Given the description of an element on the screen output the (x, y) to click on. 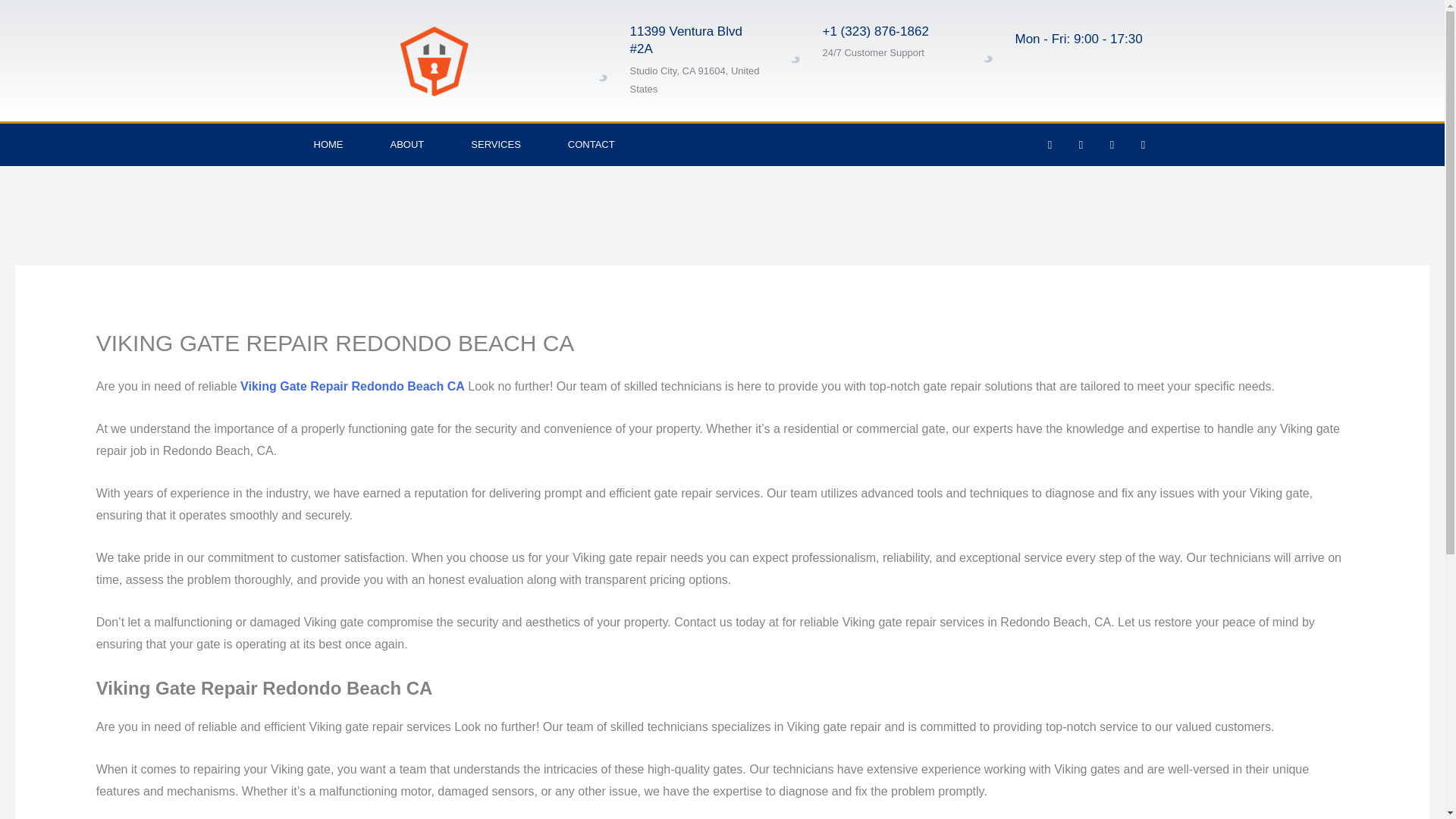
CONTACT (591, 144)
Bitbucket (1142, 144)
HOME (327, 144)
Twitter (1080, 144)
Github (1111, 144)
ABOUT (407, 144)
Facebook (1049, 144)
Viking Gate Repair Redondo Beach CA (352, 386)
SERVICES (495, 144)
